Given the description of an element on the screen output the (x, y) to click on. 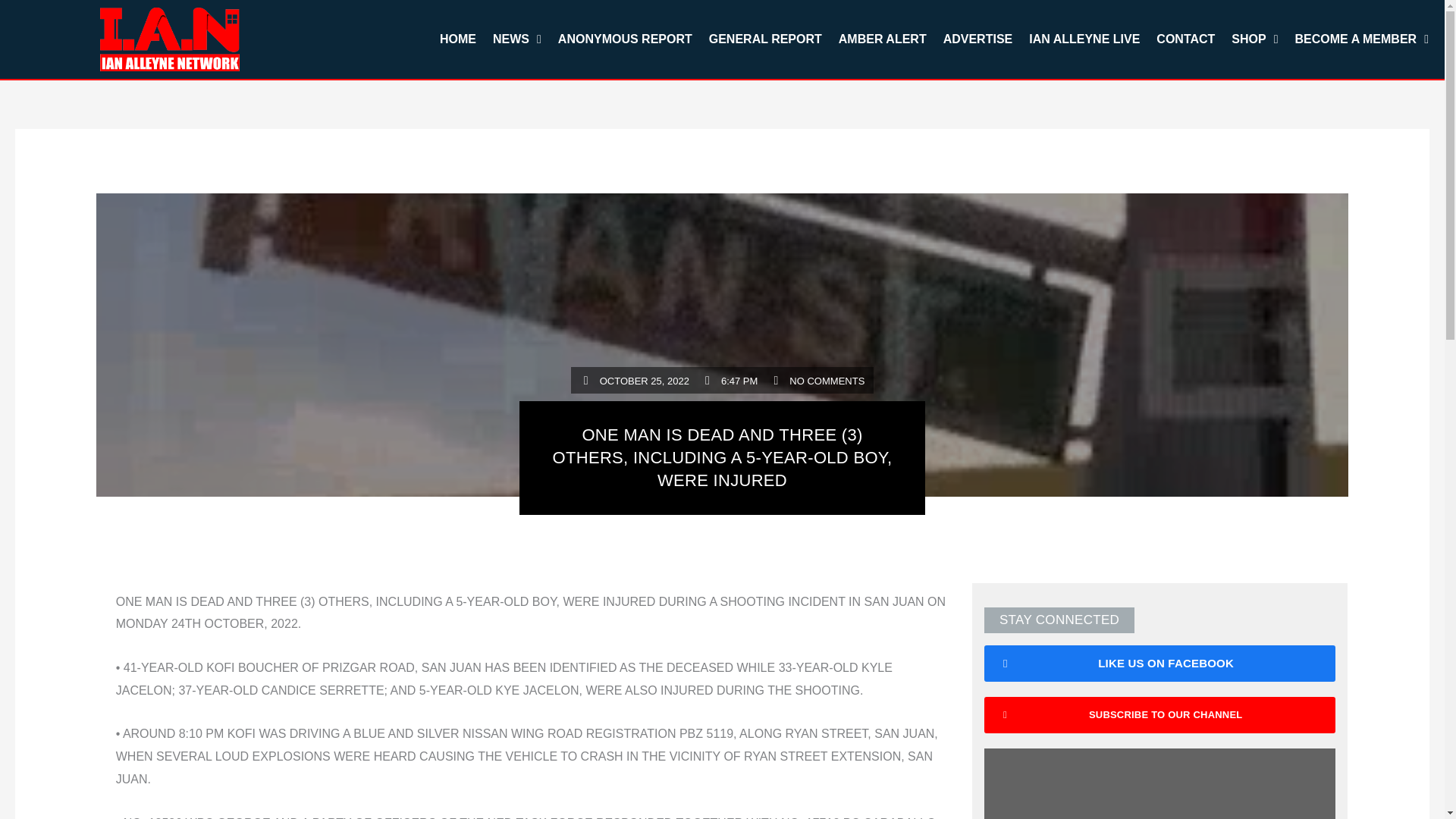
ADVERTISE (978, 39)
AMBER ALERT (881, 39)
BECOME A MEMBER (1362, 39)
CONTACT (1185, 39)
SHOP (1254, 39)
HOME (457, 39)
IAN ALLEYNE LIVE (1084, 39)
GENERAL REPORT (764, 39)
NEWS (517, 39)
ANONYMOUS REPORT (625, 39)
